Given the description of an element on the screen output the (x, y) to click on. 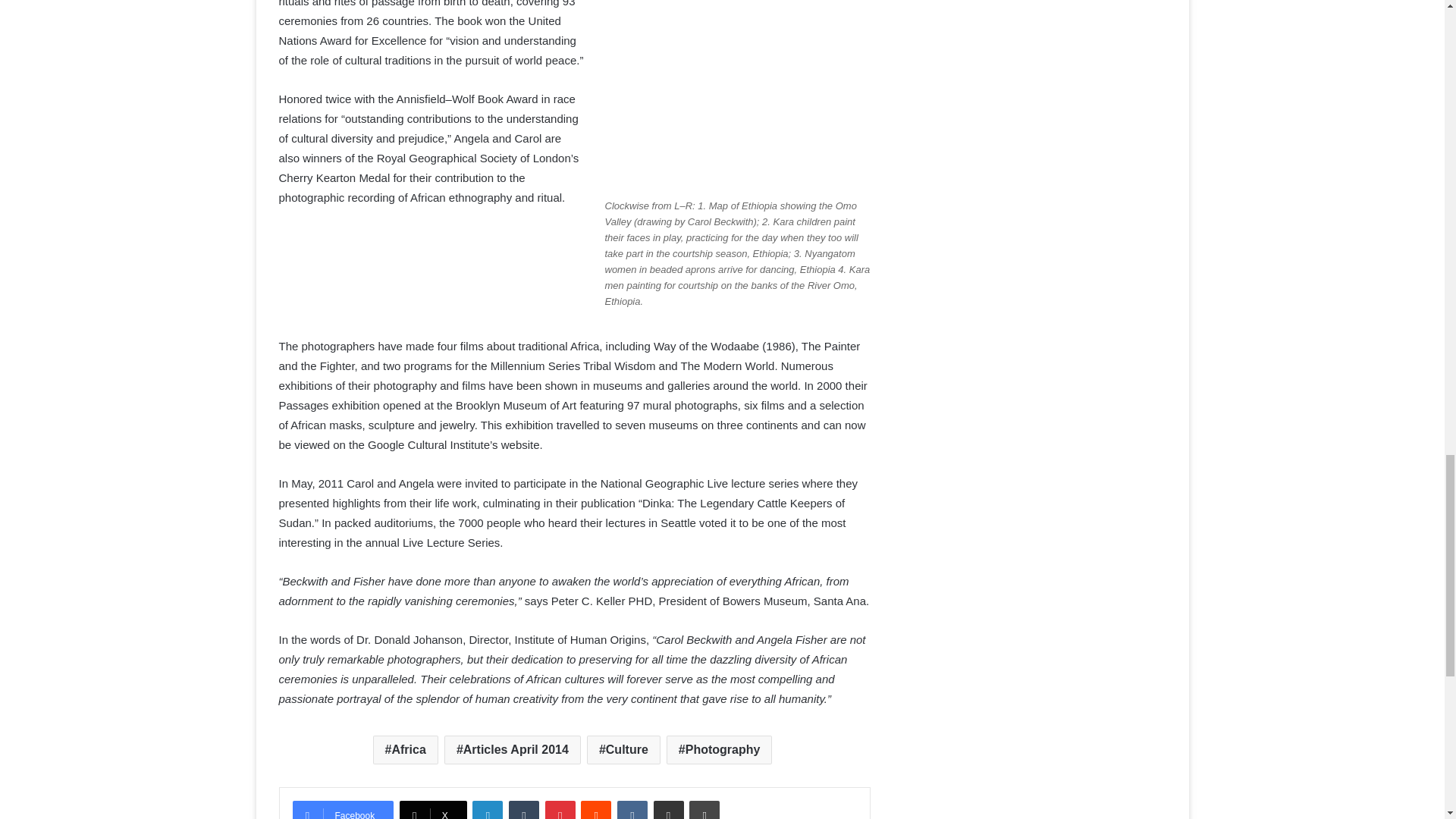
Tumblr (523, 809)
Share via Email (668, 809)
Print (703, 809)
VKontakte (632, 809)
Pinterest (559, 809)
LinkedIn (486, 809)
X (432, 809)
Reddit (595, 809)
Facebook (343, 809)
